Given the description of an element on the screen output the (x, y) to click on. 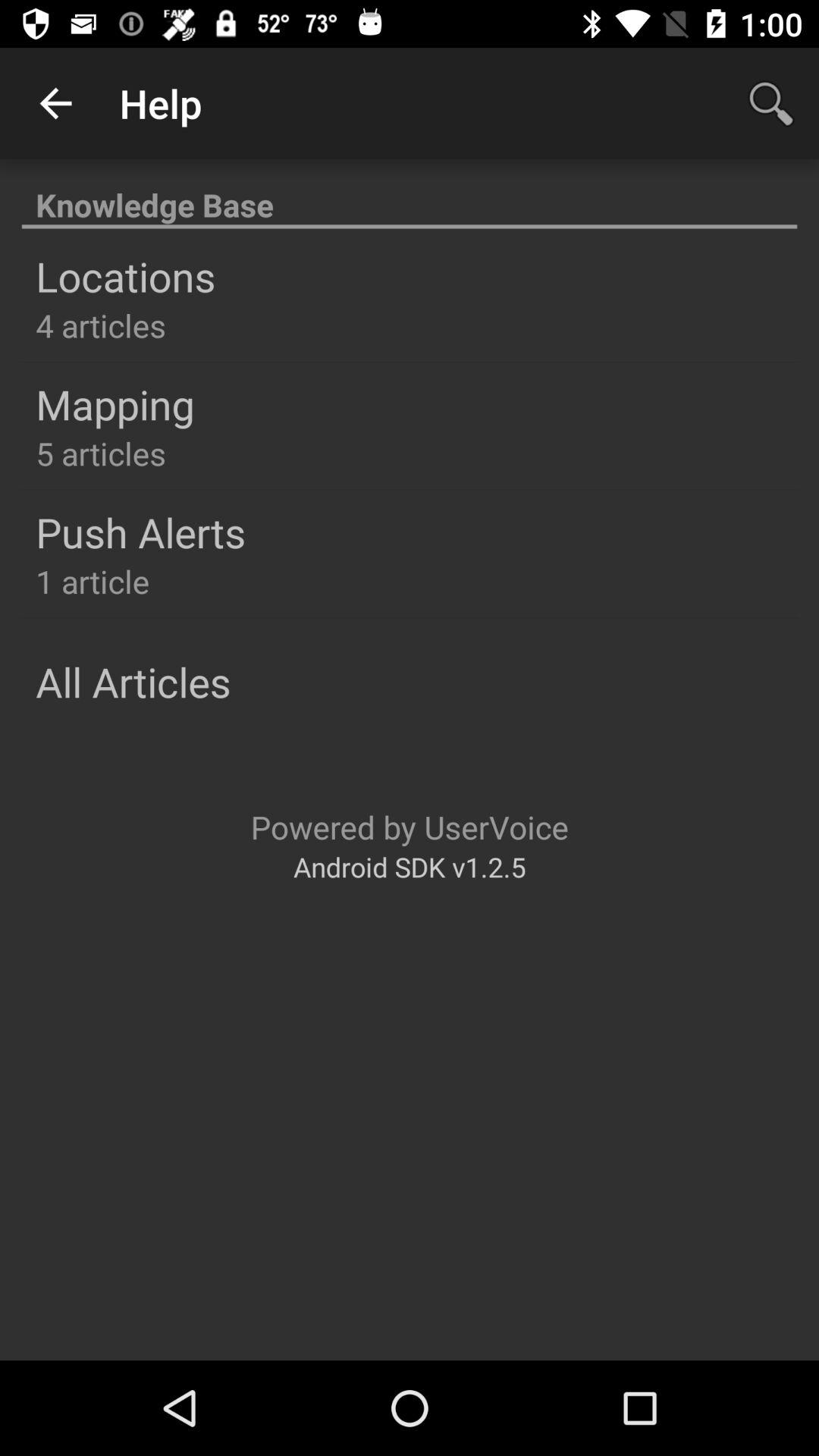
click on magnifier icon (771, 103)
